Given the description of an element on the screen output the (x, y) to click on. 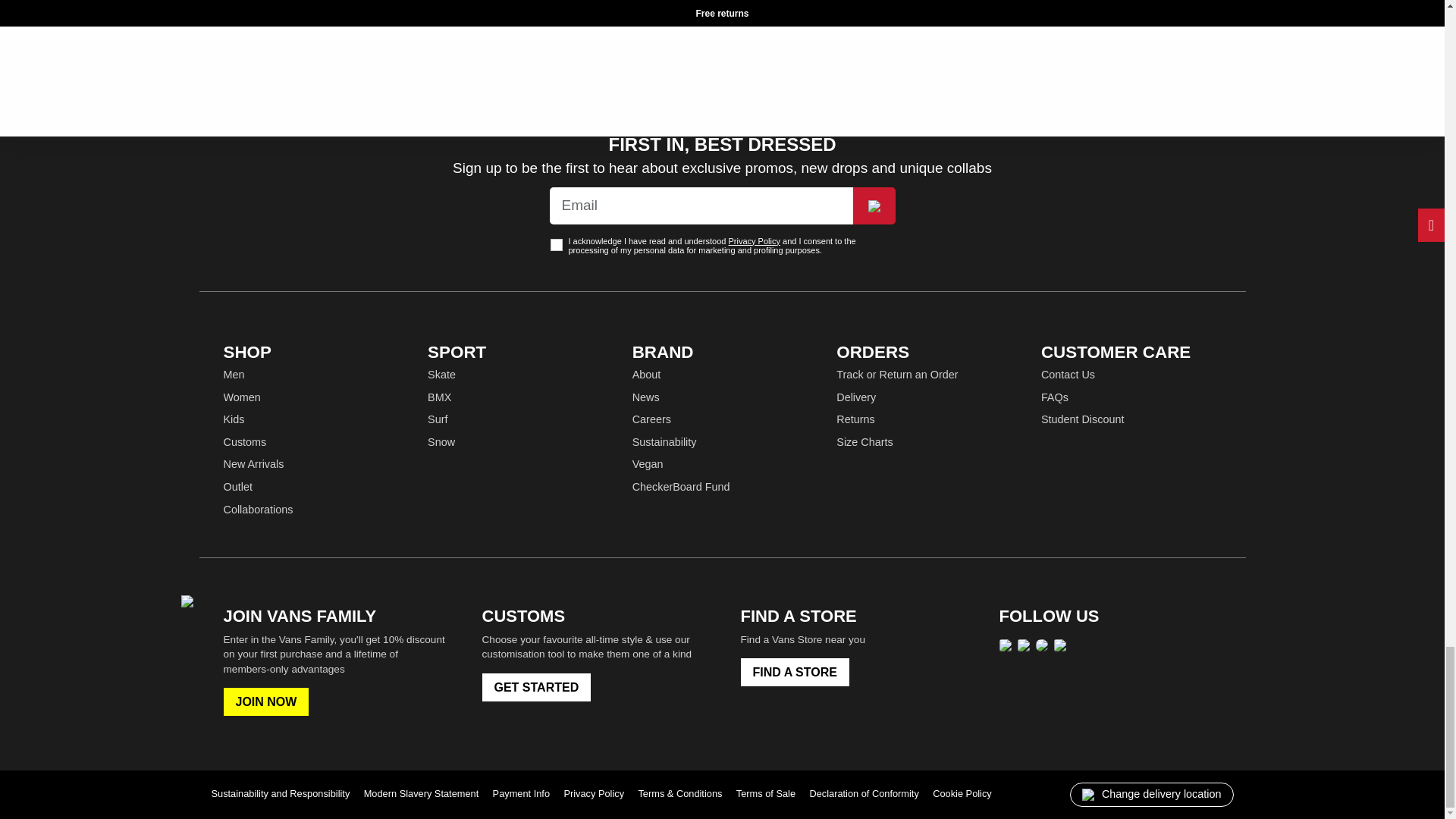
on (556, 244)
